Given the description of an element on the screen output the (x, y) to click on. 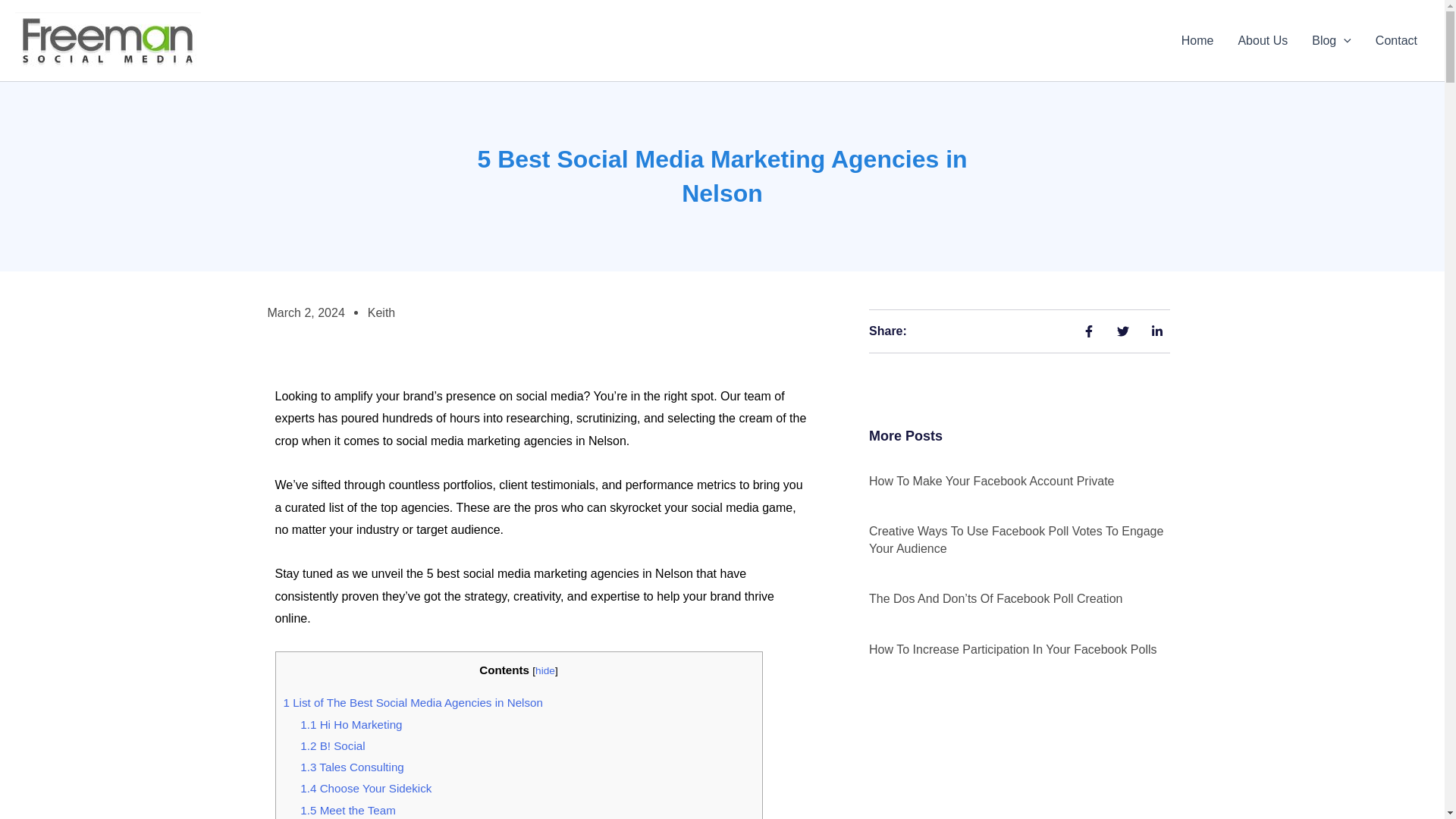
1.5 Meet the Team (347, 809)
1.4 Choose Your Sidekick (364, 788)
Home (1197, 40)
1.1 Hi Ho Marketing (350, 724)
About Us (1262, 40)
1.2 B! Social (332, 745)
Keith (381, 313)
1.3 Tales Consulting (351, 766)
hide (544, 670)
1 List of The Best Social Media Agencies in Nelson (413, 702)
Contact (1395, 40)
March 2, 2024 (304, 313)
Blog (1331, 40)
